Given the description of an element on the screen output the (x, y) to click on. 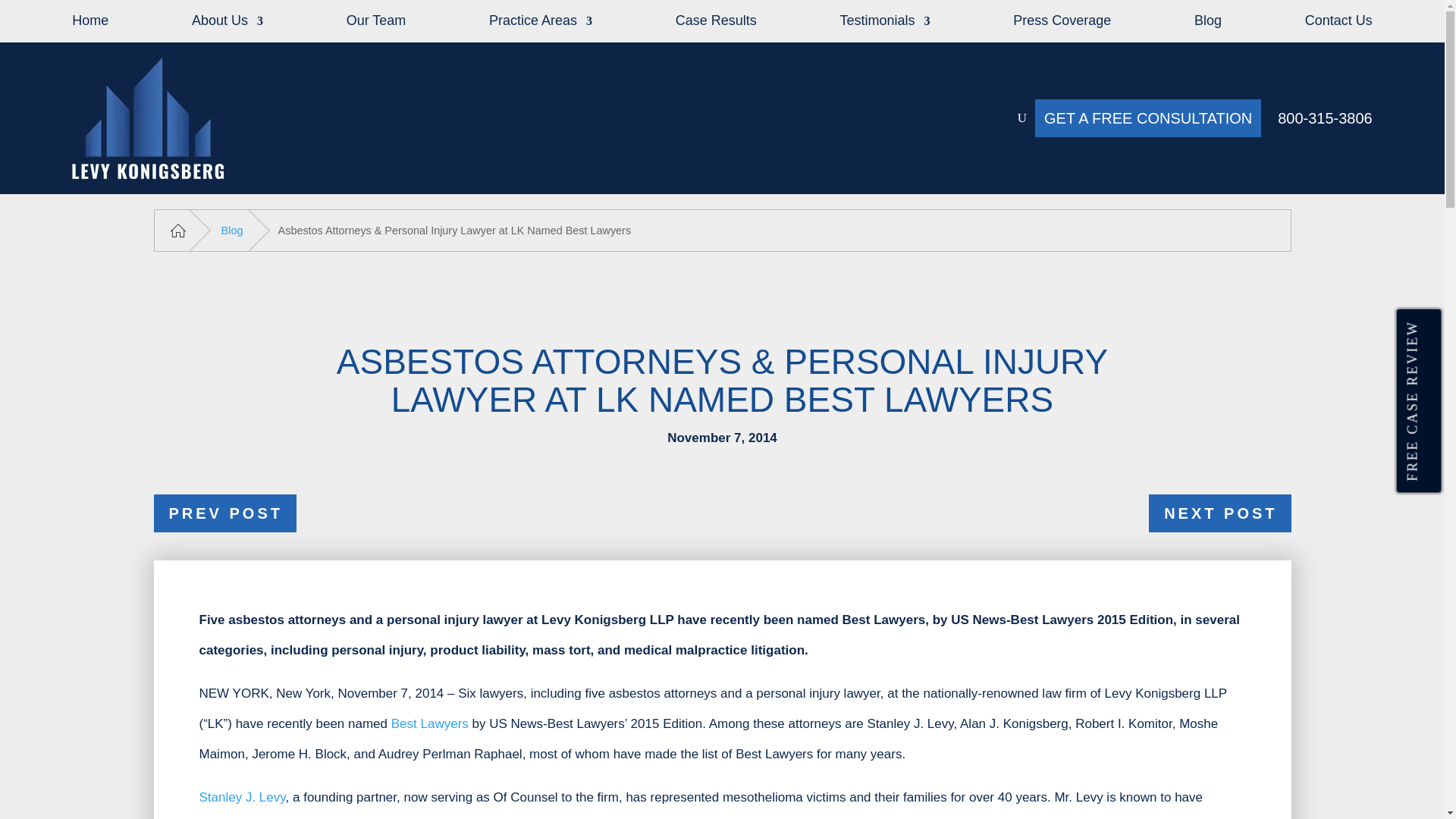
Best Lawyers (429, 723)
About Us (227, 24)
Our Team (376, 24)
Testimonials (885, 24)
Stan Levy (241, 797)
Case Results (716, 24)
Practice Areas (540, 24)
Home (89, 24)
Press Coverage (1061, 24)
Contact Us (1338, 24)
Go Home (178, 230)
Blog (1207, 24)
